Given the description of an element on the screen output the (x, y) to click on. 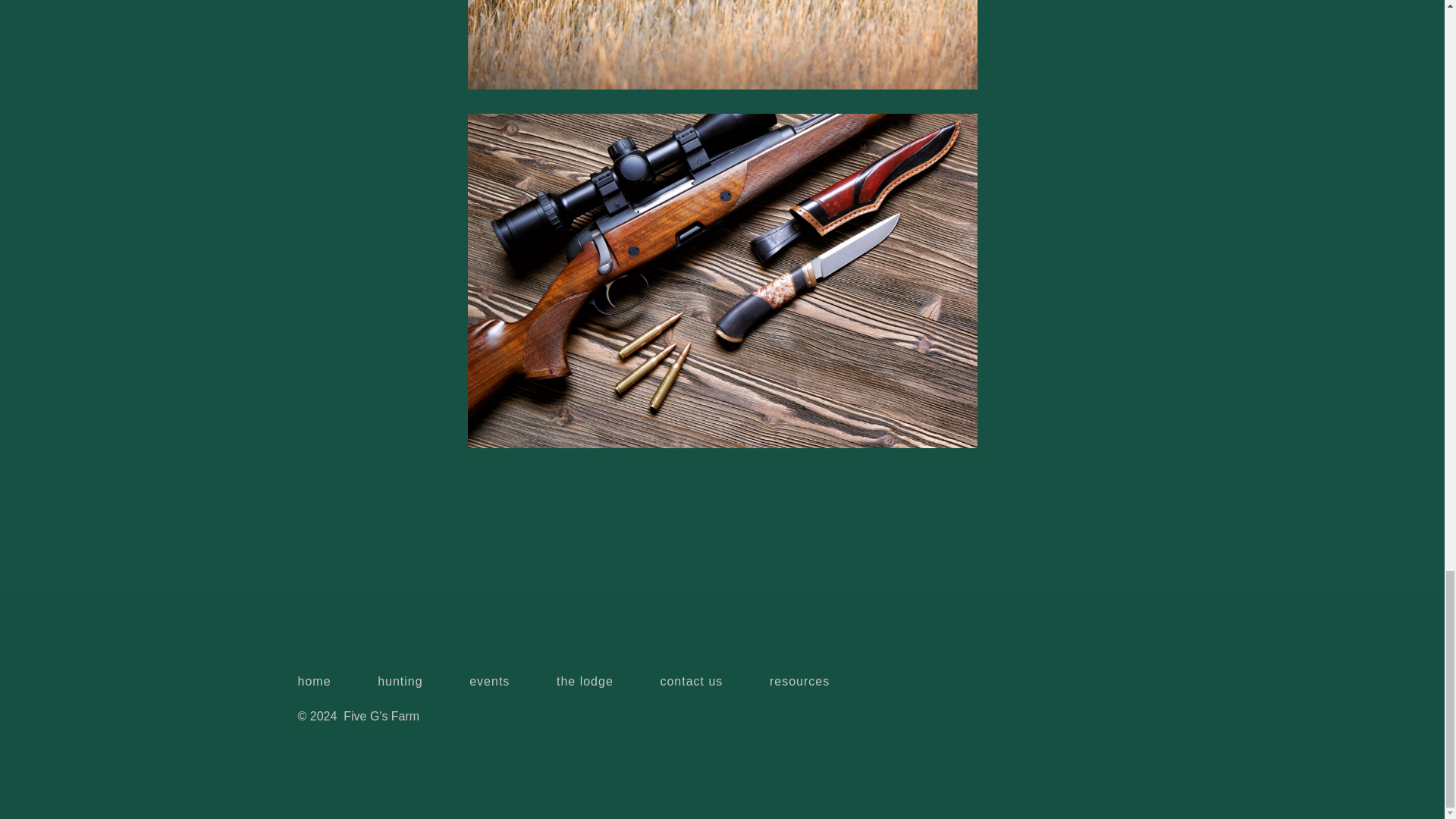
home (324, 681)
hunting (399, 681)
resources (799, 681)
the lodge (584, 681)
contact us (692, 681)
events (488, 681)
